Given the description of an element on the screen output the (x, y) to click on. 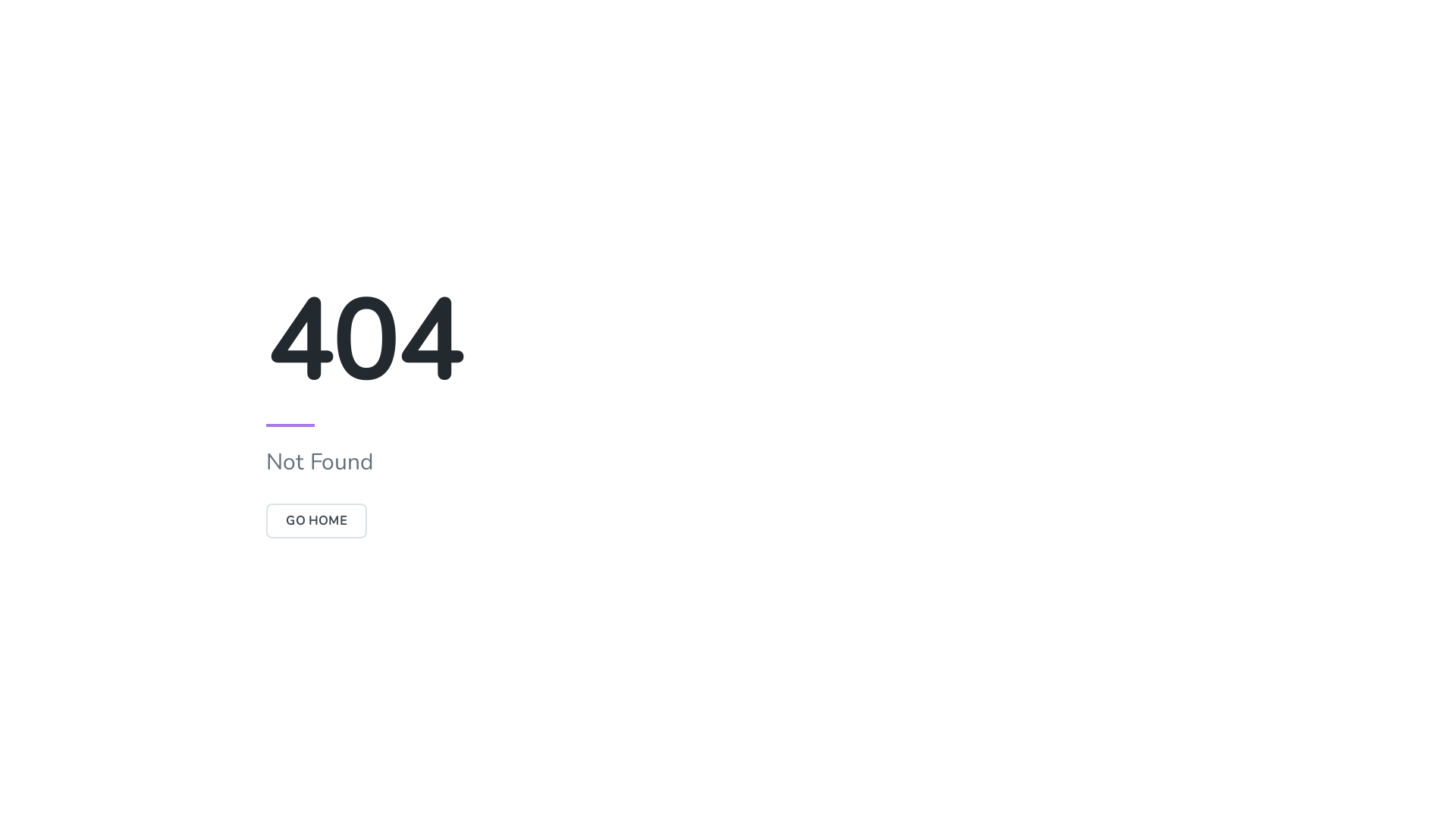
GO HOME Element type: text (316, 520)
GO HOME Element type: text (316, 520)
